Given the description of an element on the screen output the (x, y) to click on. 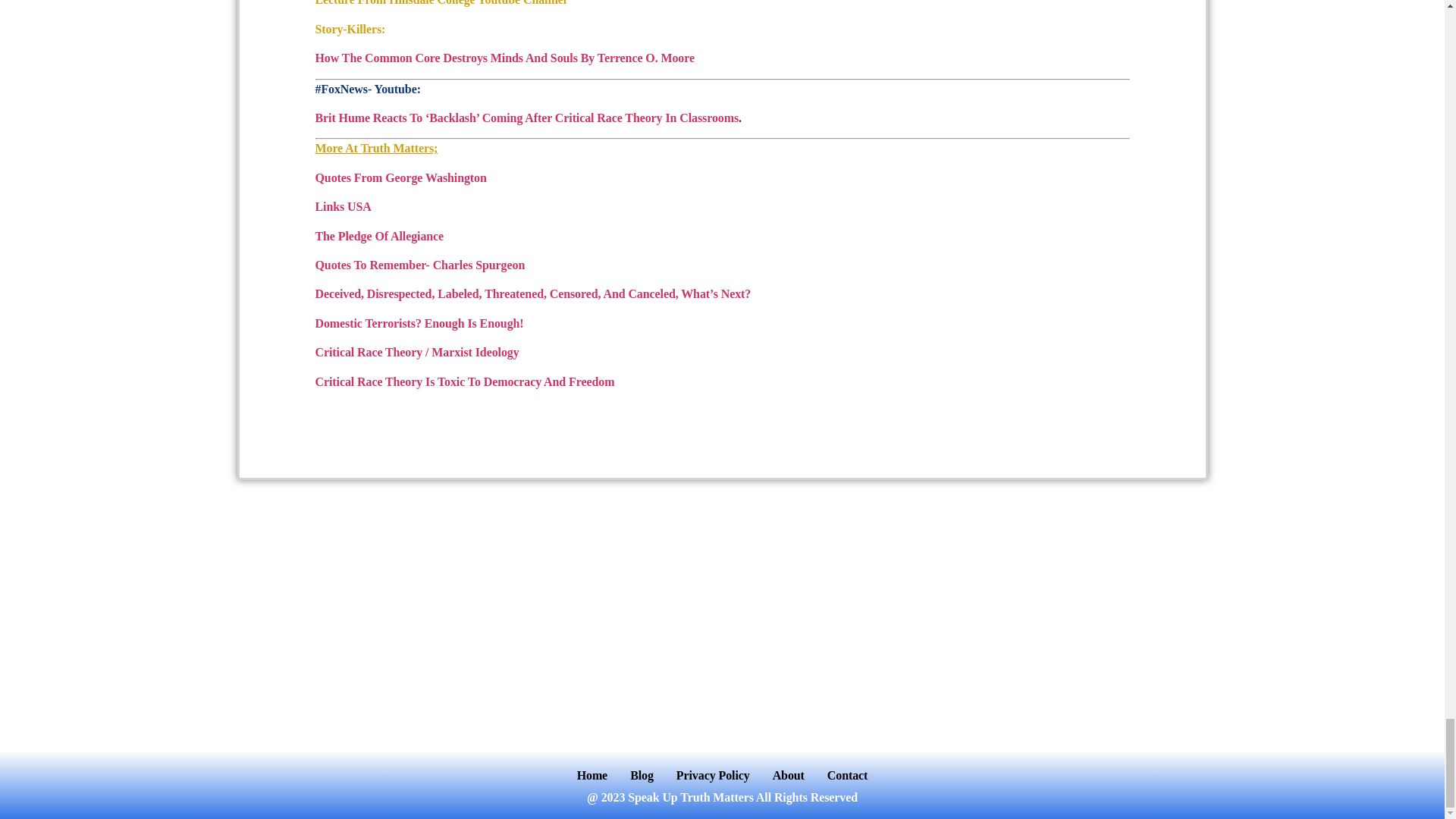
Privacy Policy (713, 775)
Home (592, 775)
Links USA (343, 205)
Critical Race Theory Is Toxic To Democracy And Freedom (464, 381)
Quotes From George Washington (400, 177)
Quotes To Remember- Charles Spurgeon (420, 264)
Domestic Terrorists? Enough Is Enough! (419, 323)
Blog (641, 775)
The Pledge Of Allegiance (379, 236)
